Given the description of an element on the screen output the (x, y) to click on. 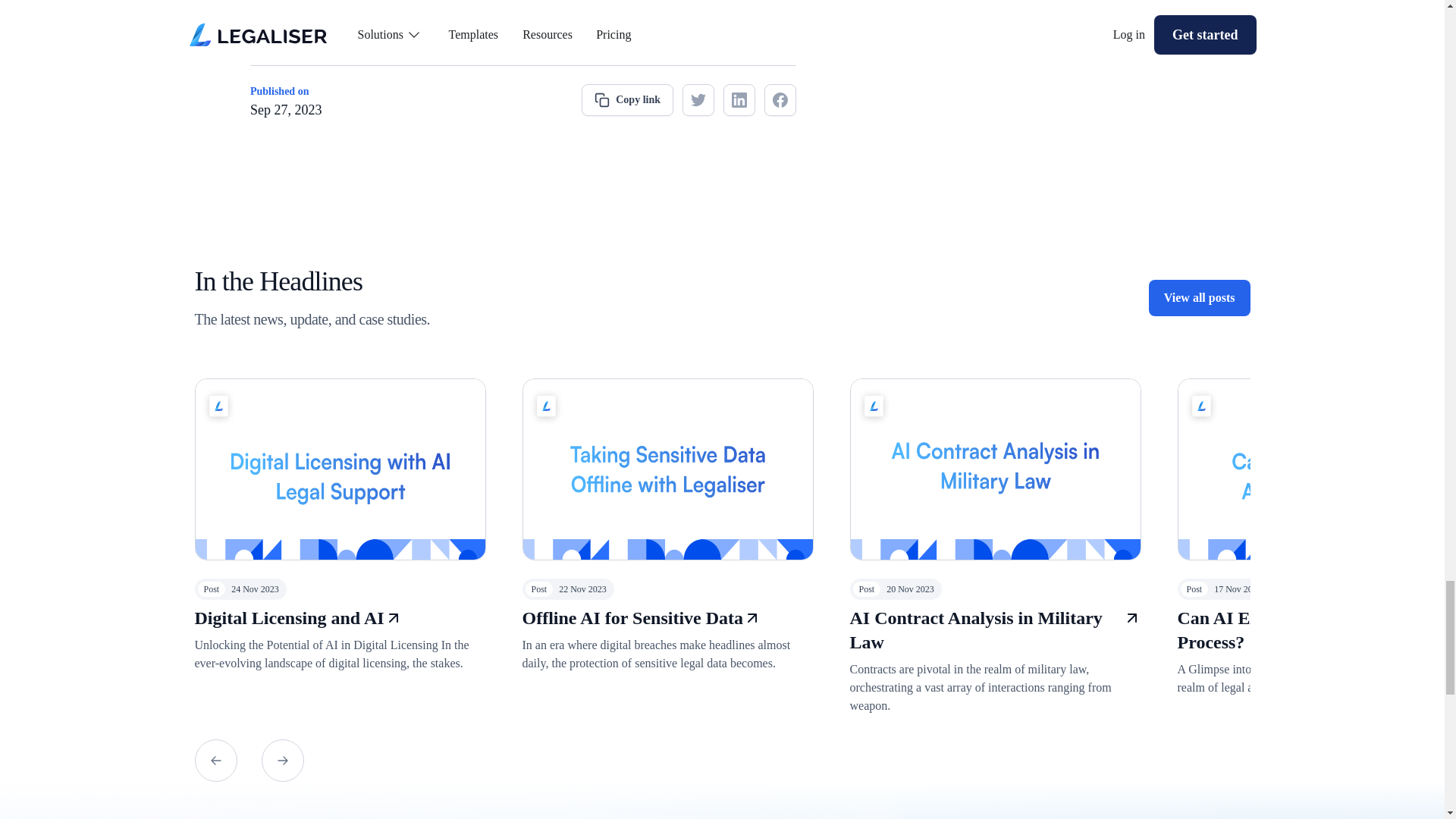
View all posts (1199, 298)
Copy link (627, 99)
Offline AI for Sensitive Data (631, 617)
AI Contract Analysis in Military Law (985, 630)
Digital Licensing and AI (288, 617)
